Given the description of an element on the screen output the (x, y) to click on. 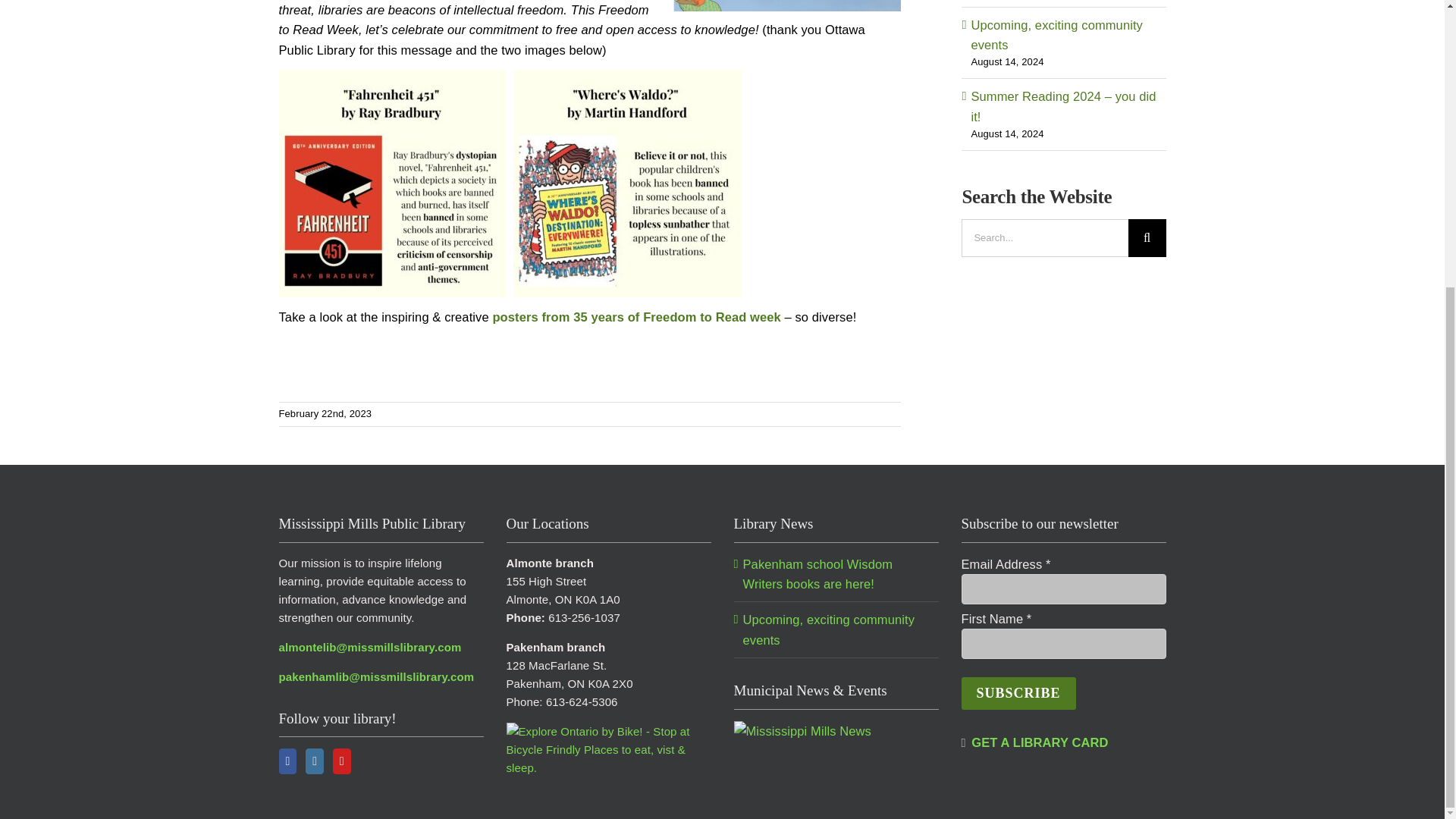
Upcoming, exciting community events (1056, 34)
Subscribe (1017, 693)
Email Monica Blackburn (370, 646)
Municipal News (801, 731)
posters from 35 years of Freedom to Read week (634, 316)
